Given the description of an element on the screen output the (x, y) to click on. 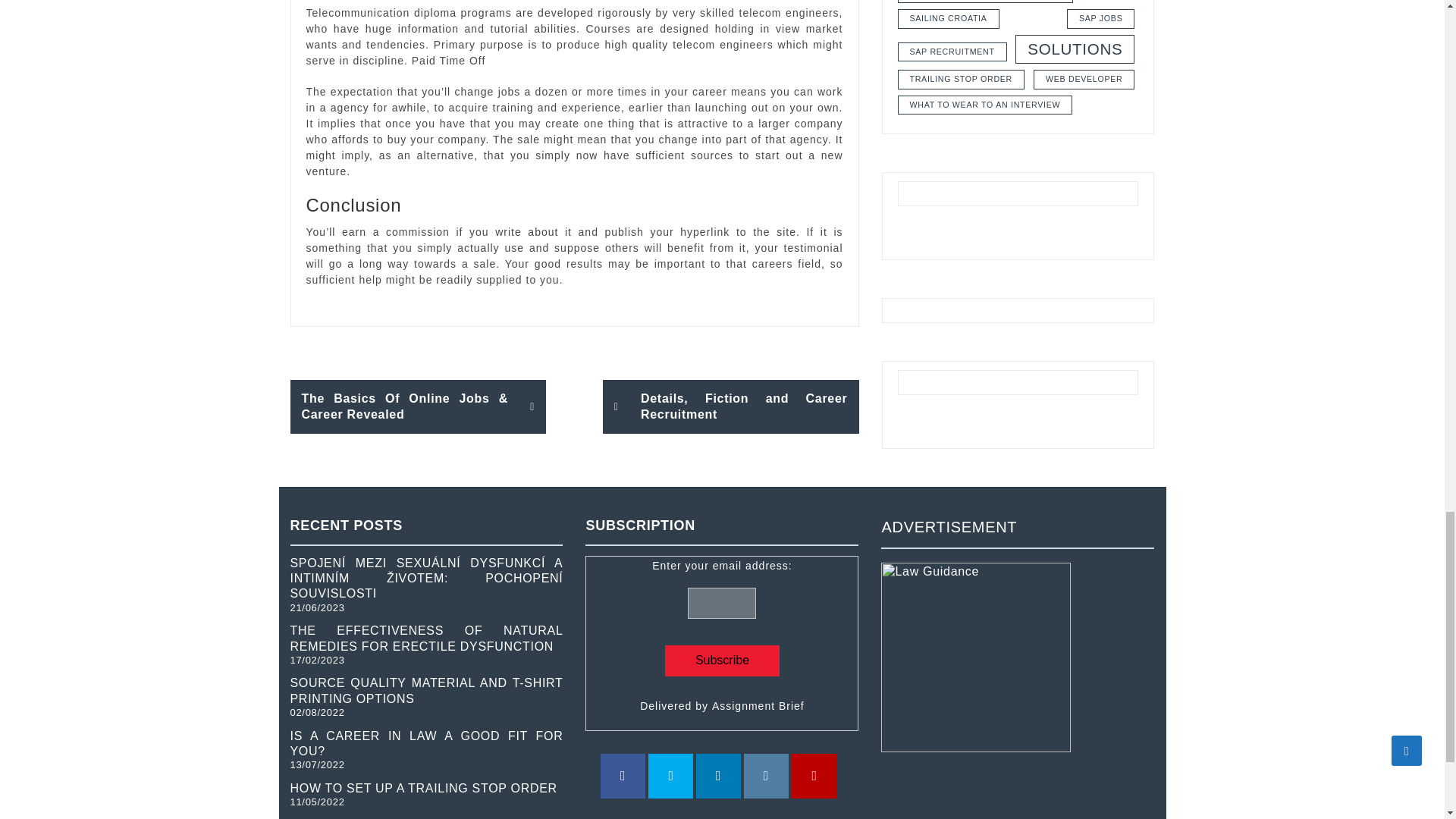
Subscribe (721, 660)
Law Guidance (975, 657)
Details, Fiction and Career Recruitment (730, 407)
